Given the description of an element on the screen output the (x, y) to click on. 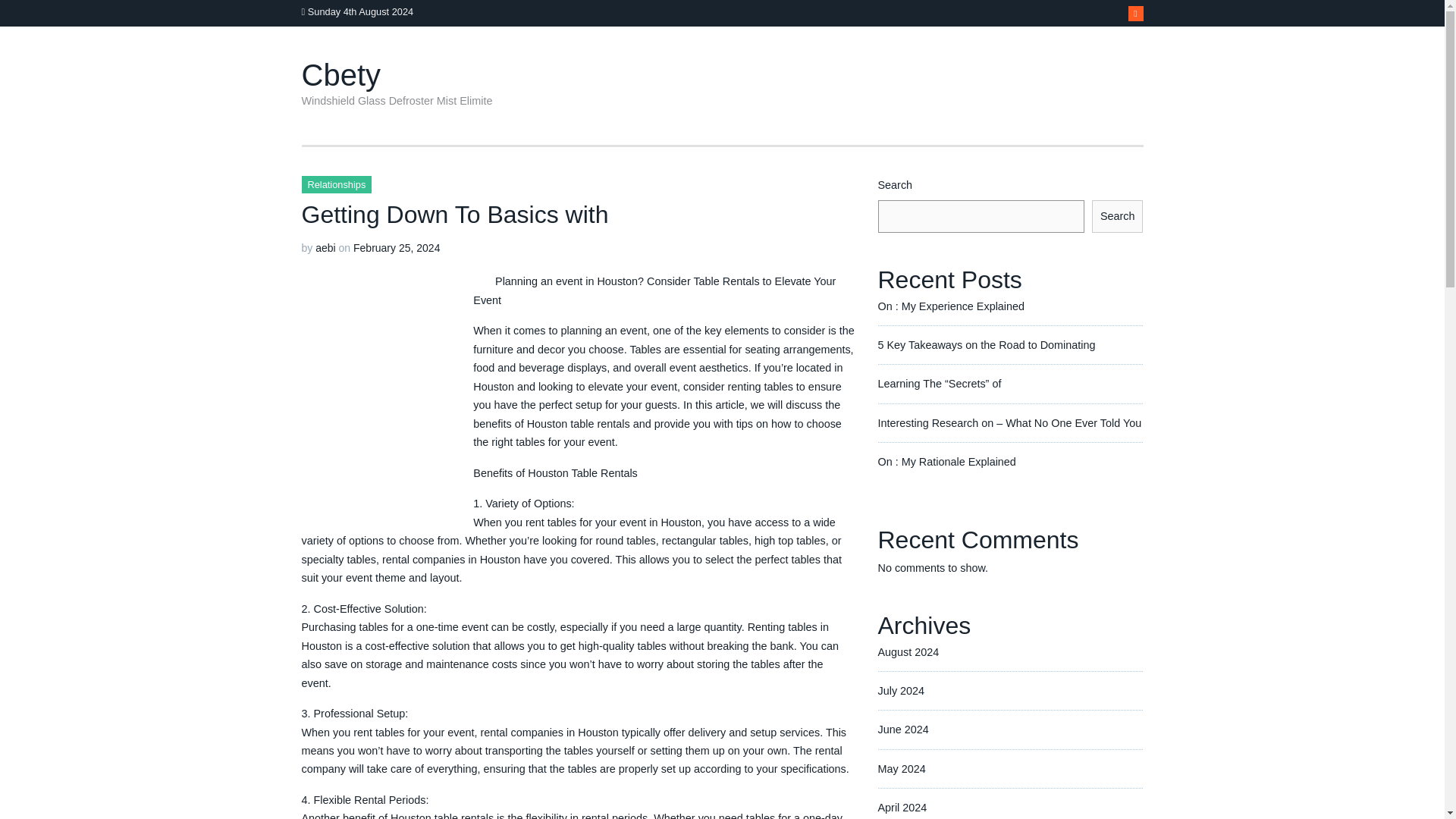
February 25, 2024 (396, 247)
On : My Rationale Explained (946, 461)
5 Key Takeaways on the Road to Dominating (986, 345)
On : My Experience Explained (951, 306)
aebi (324, 247)
Cbety (341, 74)
June 2024 (902, 729)
April 2024 (902, 807)
July 2024 (900, 690)
Cbety (341, 74)
August 2024 (908, 652)
May 2024 (901, 768)
Search (1117, 215)
Relationships (336, 184)
